Given the description of an element on the screen output the (x, y) to click on. 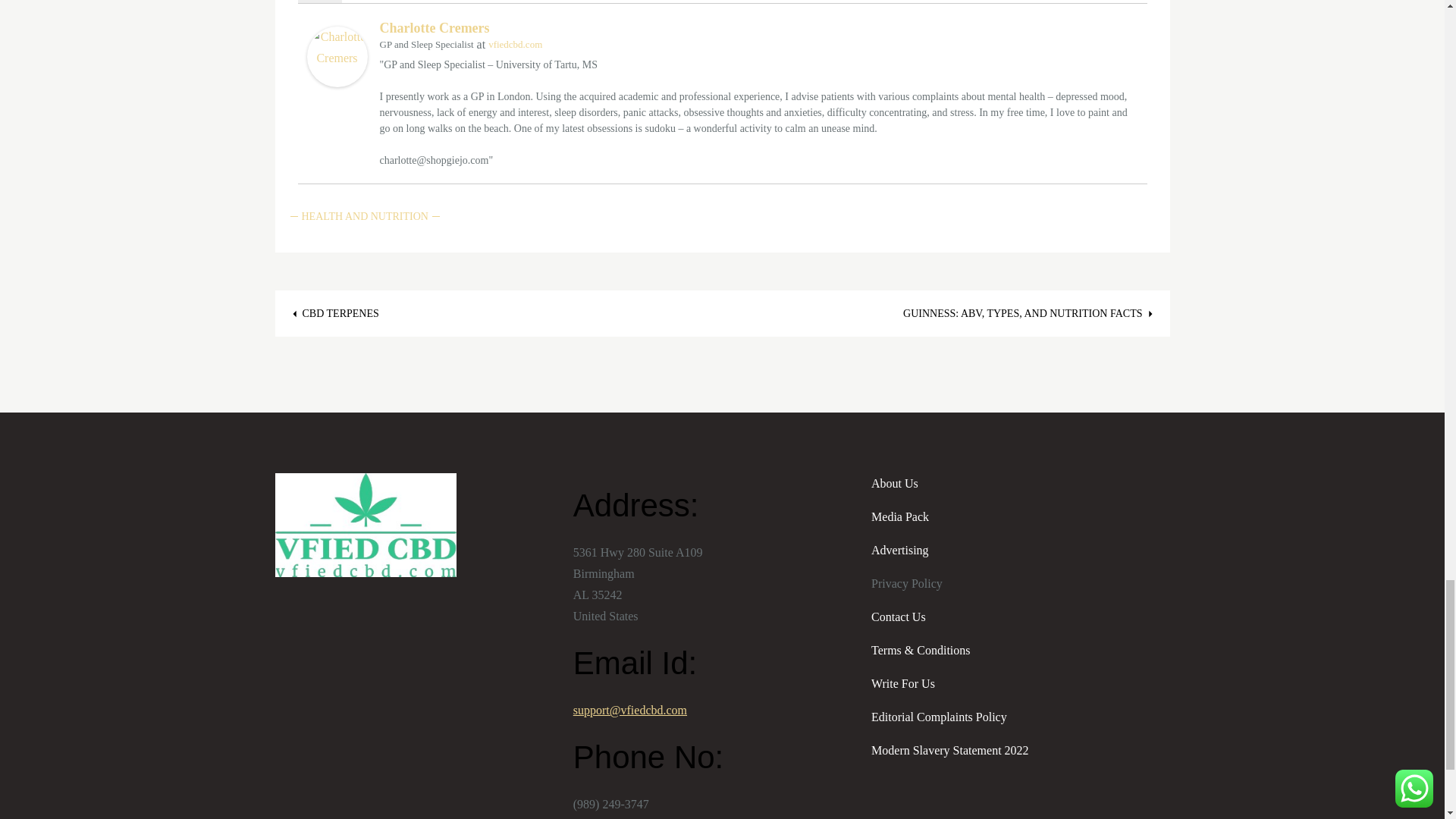
Author (318, 1)
CBD TERPENES (332, 313)
GUINNESS: ABV, TYPES, AND NUTRITION FACTS (1029, 313)
vfiedcbd.com (514, 43)
Recent Posts (380, 1)
Charlotte Cremers (335, 56)
HEALTH AND NUTRITION (363, 216)
Charlotte Cremers (433, 28)
